Given the description of an element on the screen output the (x, y) to click on. 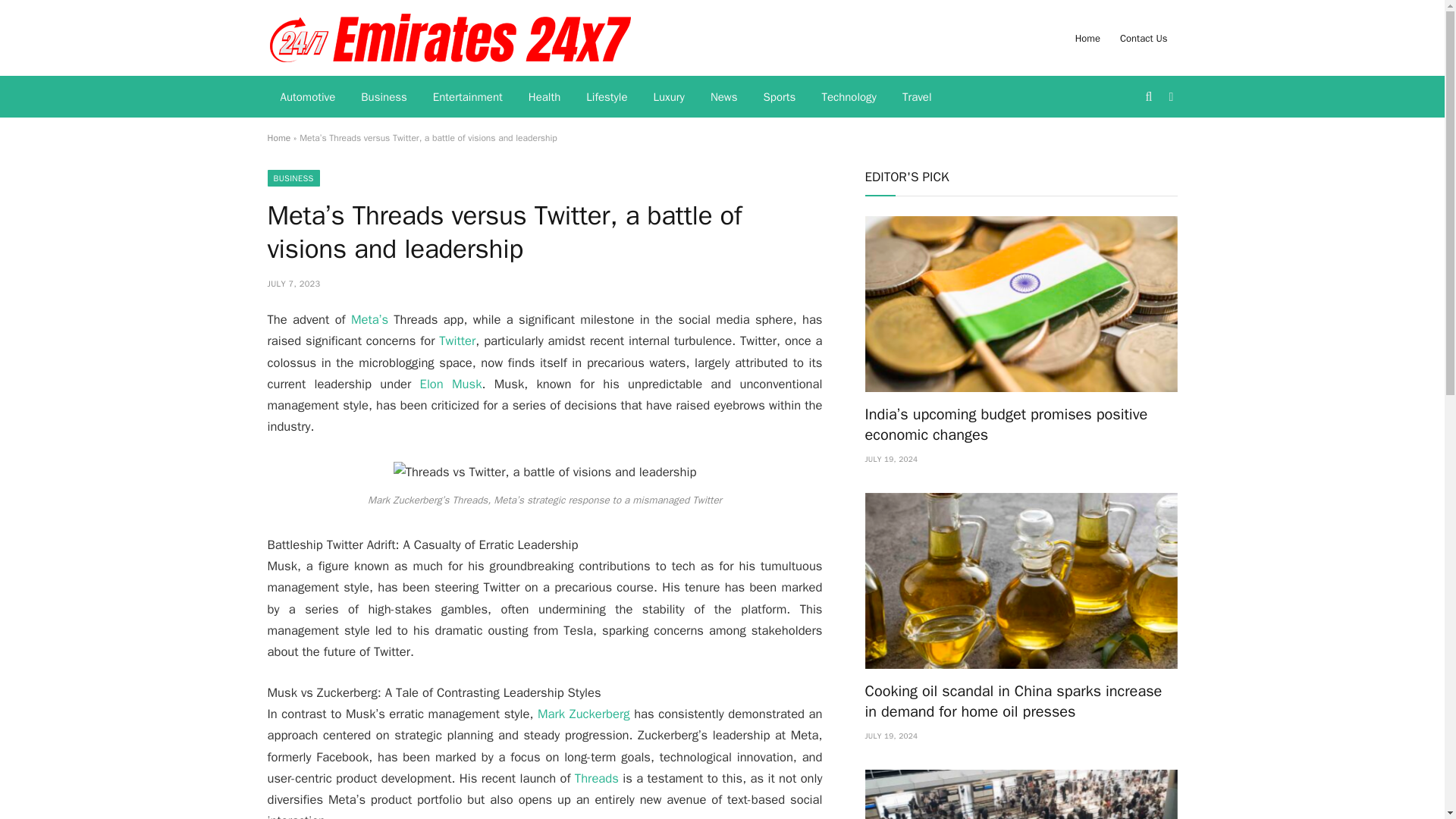
Sports (780, 96)
News (724, 96)
Home (277, 137)
Travel (916, 96)
Lifestyle (606, 96)
Automotive (306, 96)
Contact Us (1143, 38)
Technology (848, 96)
Health (544, 96)
Business (383, 96)
Entertainment (467, 96)
Switch to Dark Design - easier on eyes. (1169, 96)
BUSINESS (292, 177)
Luxury (668, 96)
